Given the description of an element on the screen output the (x, y) to click on. 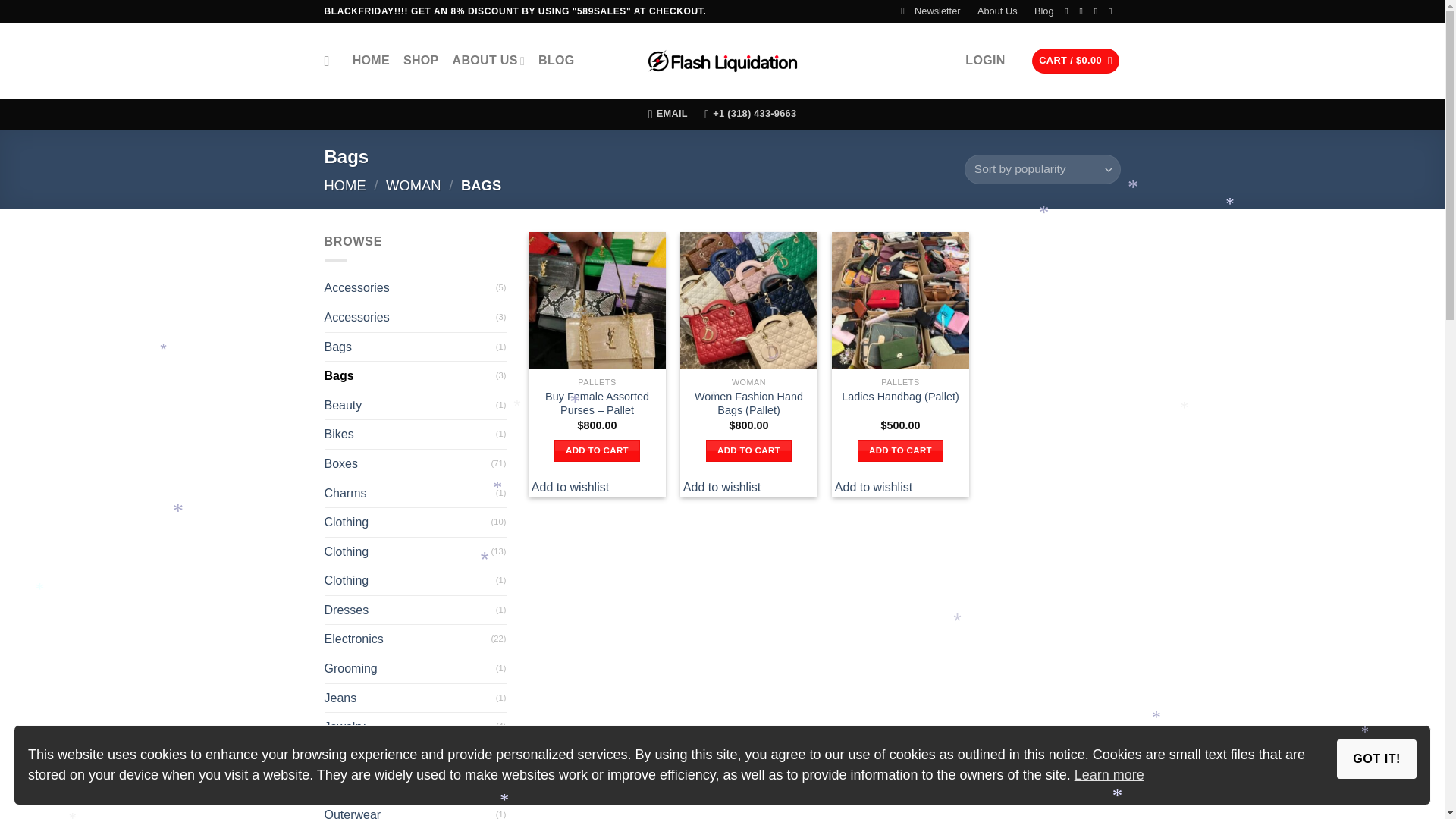
SHOP (421, 60)
HOME (371, 60)
Newsletter (930, 11)
Bikes (410, 434)
Learn more (1109, 774)
BLOG (556, 60)
Cart (1075, 60)
HOME (345, 185)
About Us (996, 11)
LOGIN (984, 60)
